Given the description of an element on the screen output the (x, y) to click on. 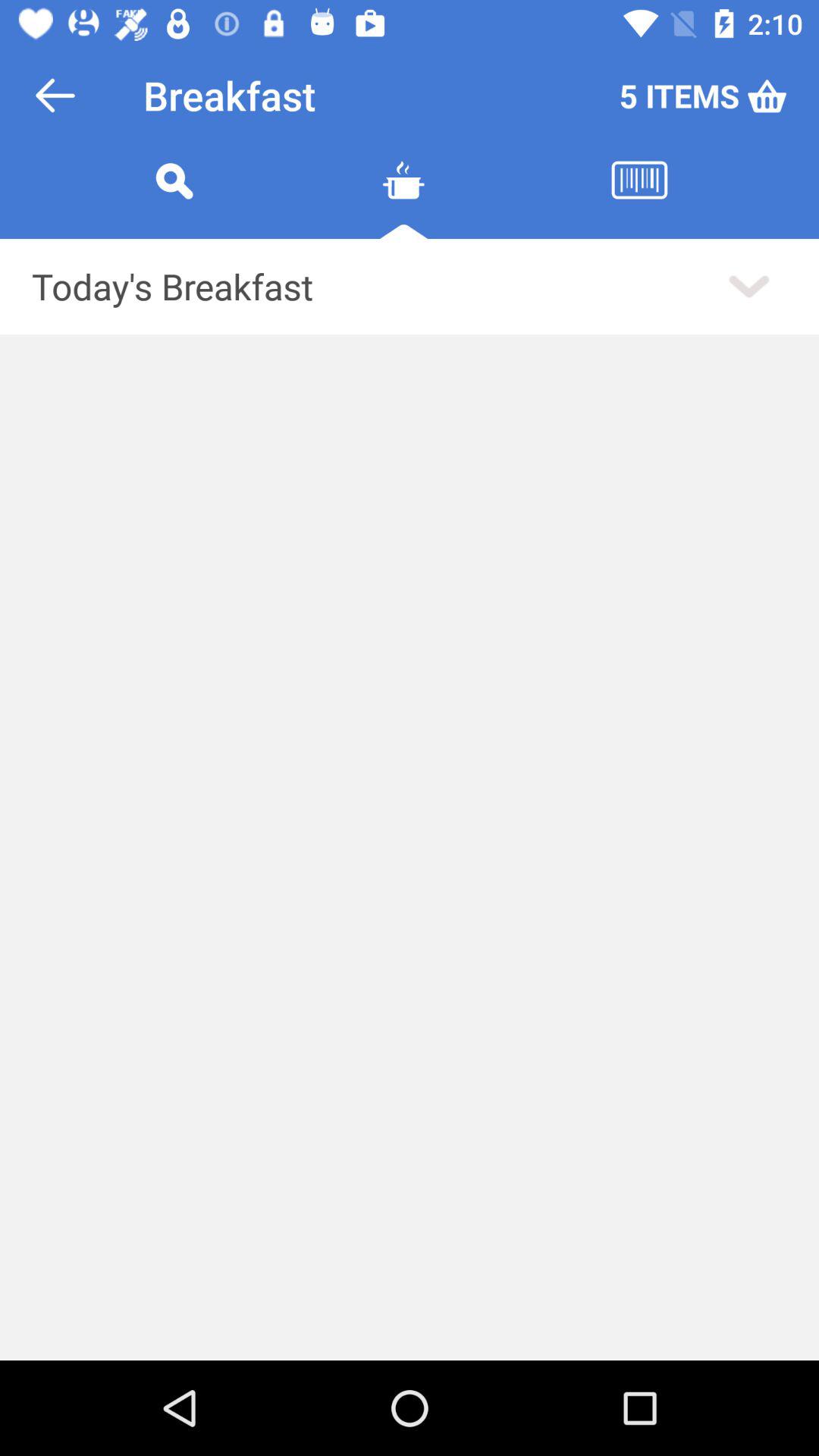
search (173, 198)
